Given the description of an element on the screen output the (x, y) to click on. 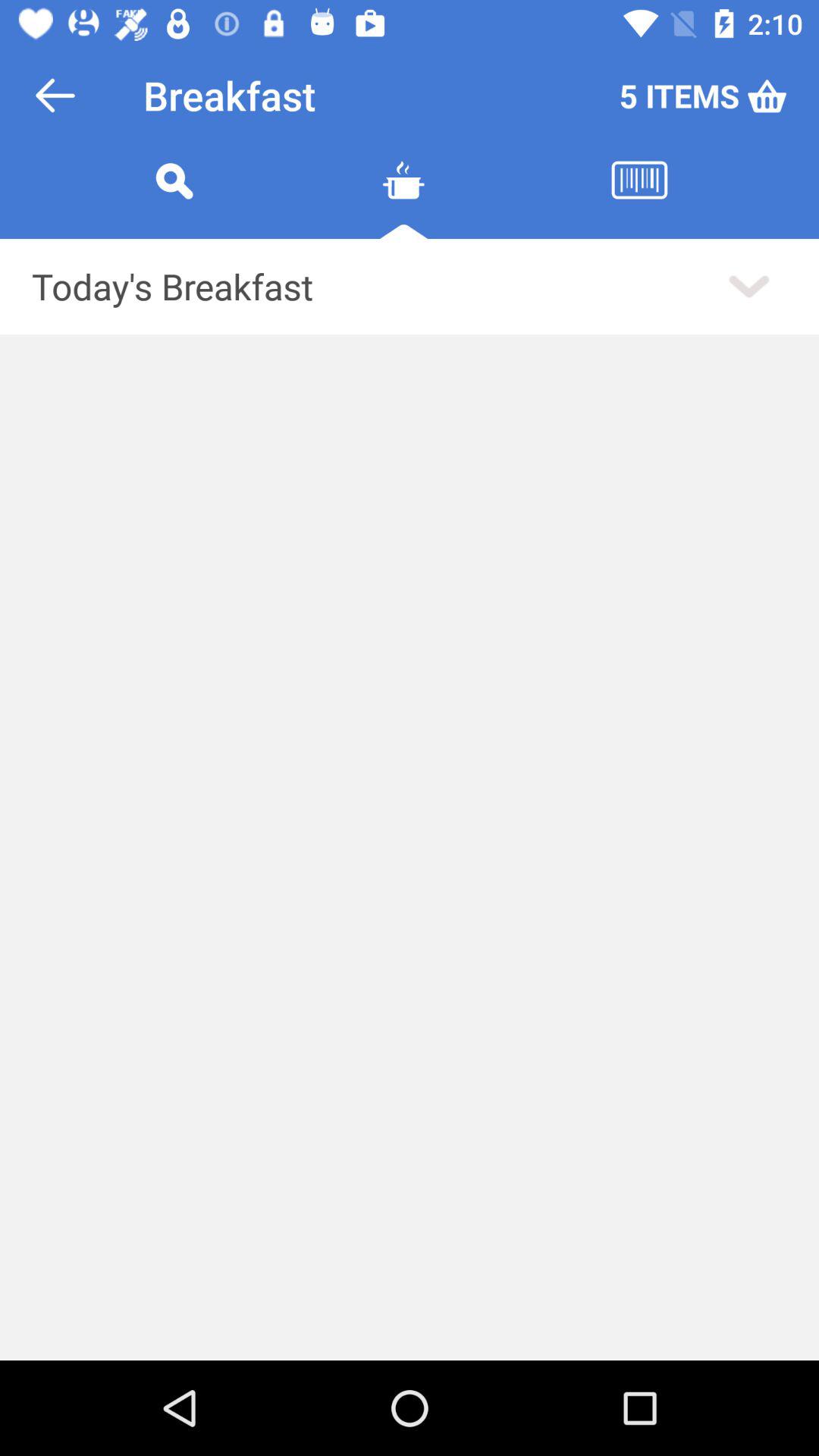
search (173, 198)
